Given the description of an element on the screen output the (x, y) to click on. 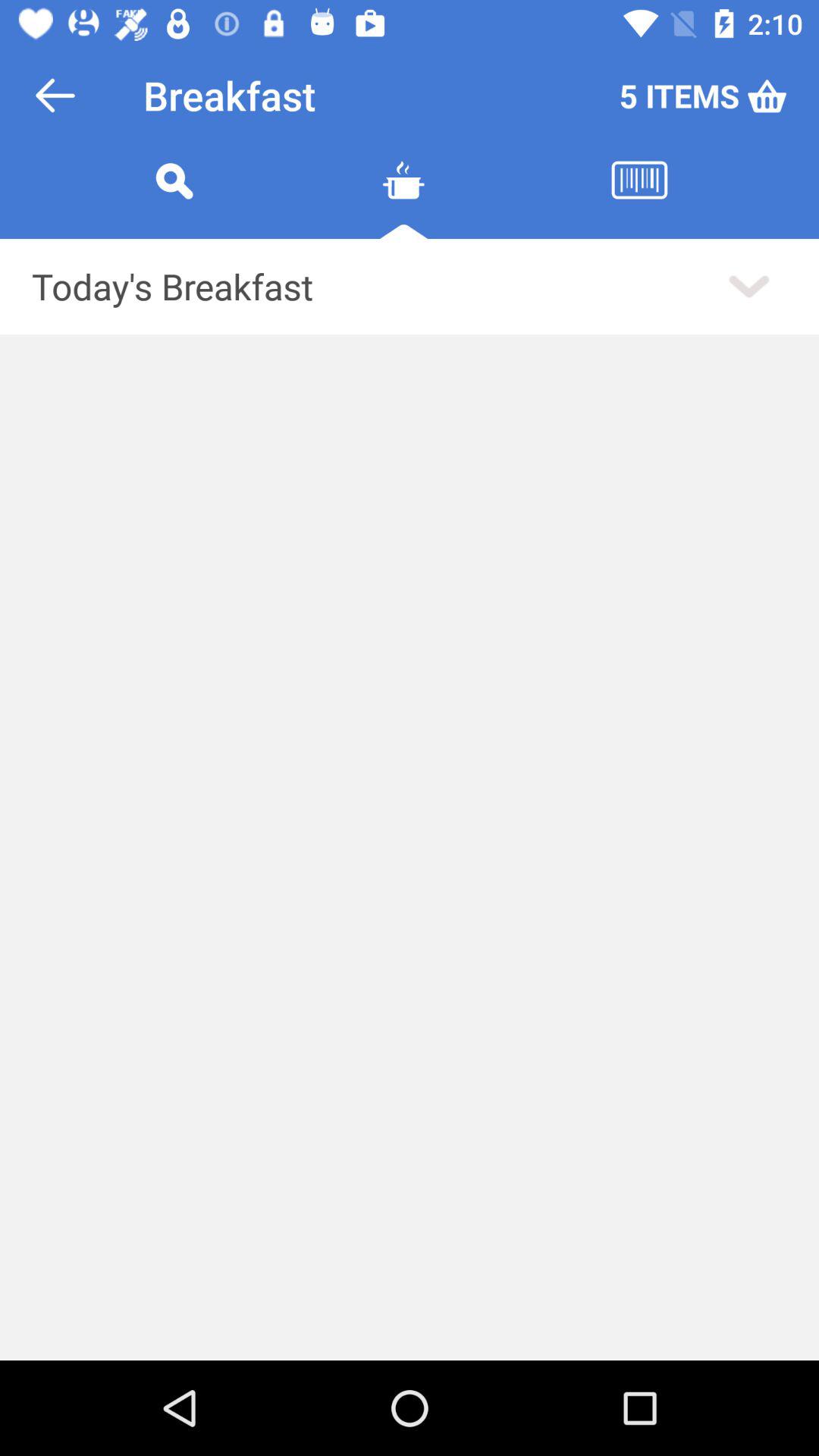
search (173, 198)
